Given the description of an element on the screen output the (x, y) to click on. 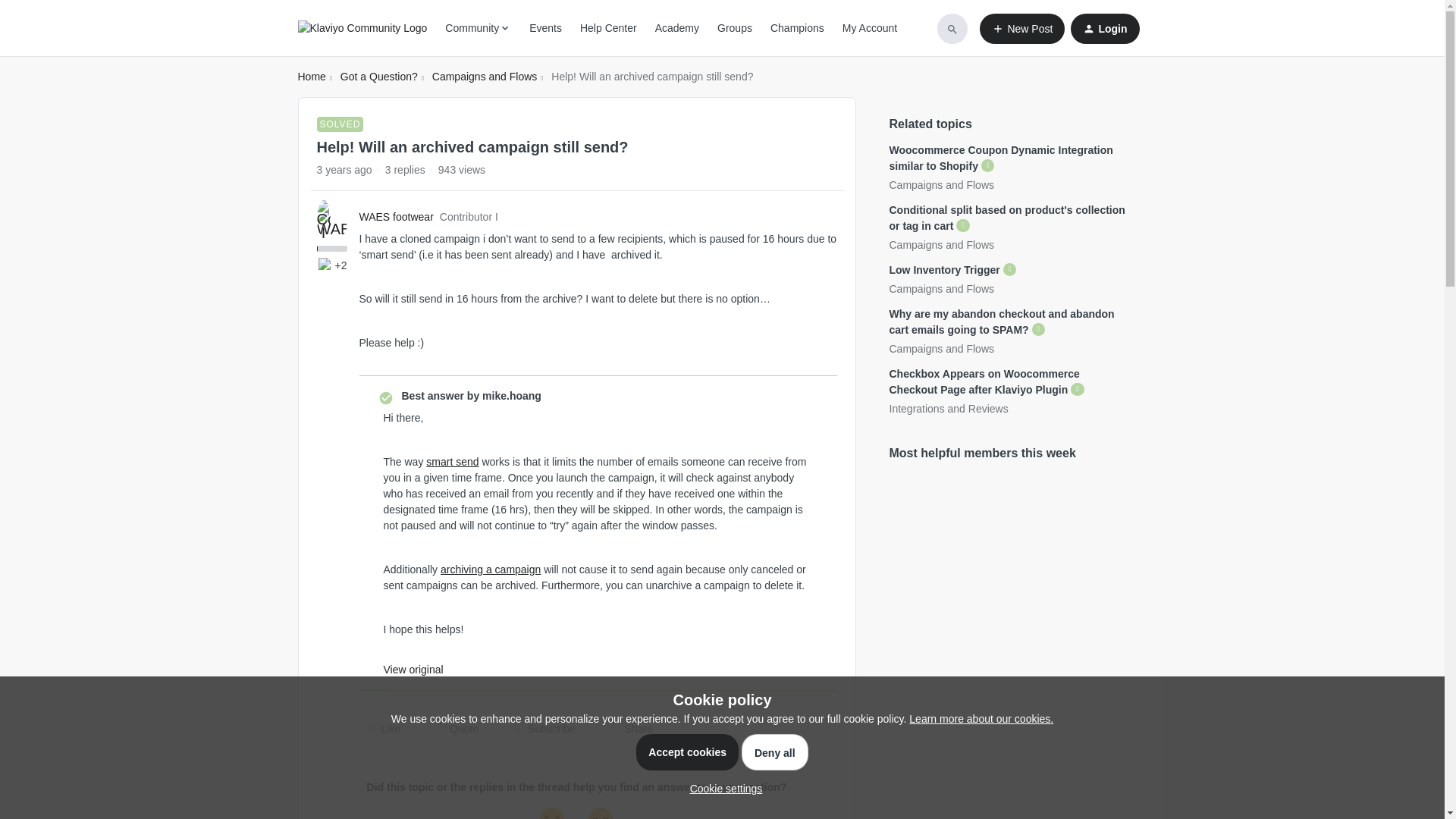
Login (1104, 28)
New Post (1021, 28)
Got a Question? (378, 76)
Academy (676, 28)
Groups (734, 28)
Help Center (608, 28)
My Account (869, 28)
Champions (797, 28)
Home (310, 76)
Events (545, 28)
